Given the description of an element on the screen output the (x, y) to click on. 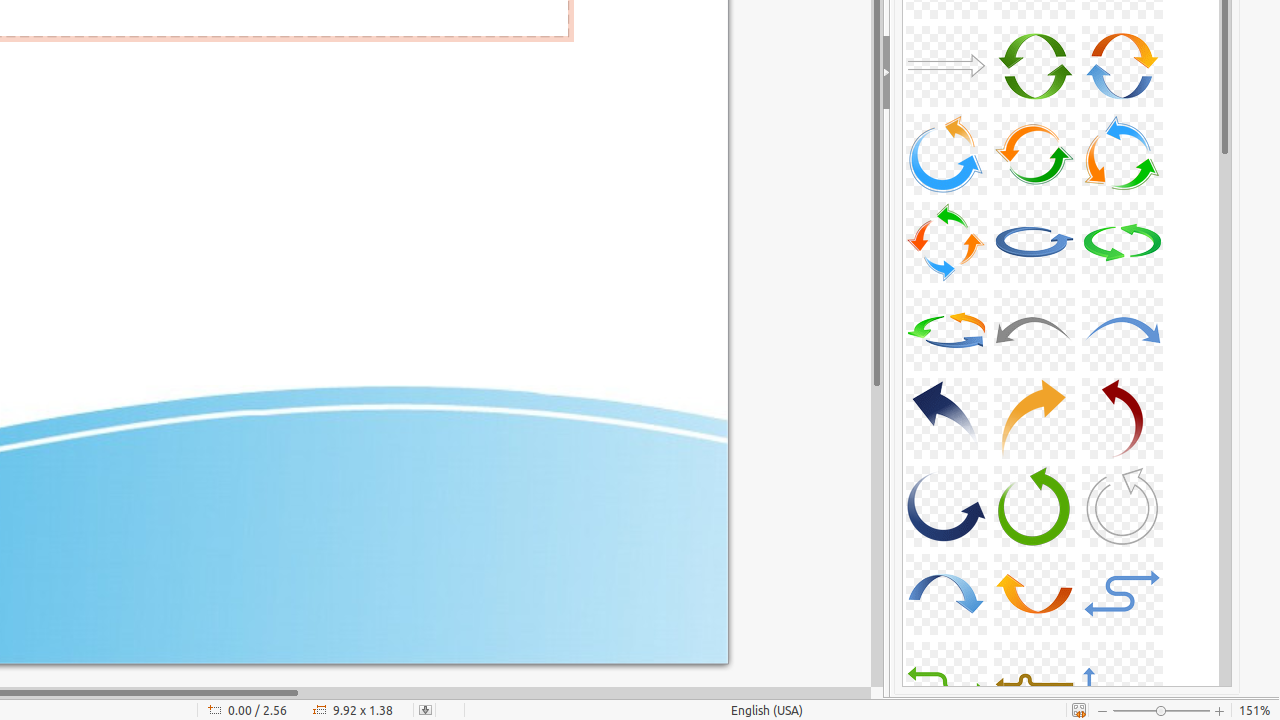
A28-CurvedArrow-DarkBlue Element type: list-item (946, 506)
A15-CircleArrow Element type: list-item (1122, 65)
A30-CurvedArrow-Gray Element type: list-item (1122, 506)
A26-CurvedArrow-Orange Element type: list-item (1034, 417)
A33-CurvedArrow-LightBlue-TwoDirections Element type: list-item (1122, 594)
